Given the description of an element on the screen output the (x, y) to click on. 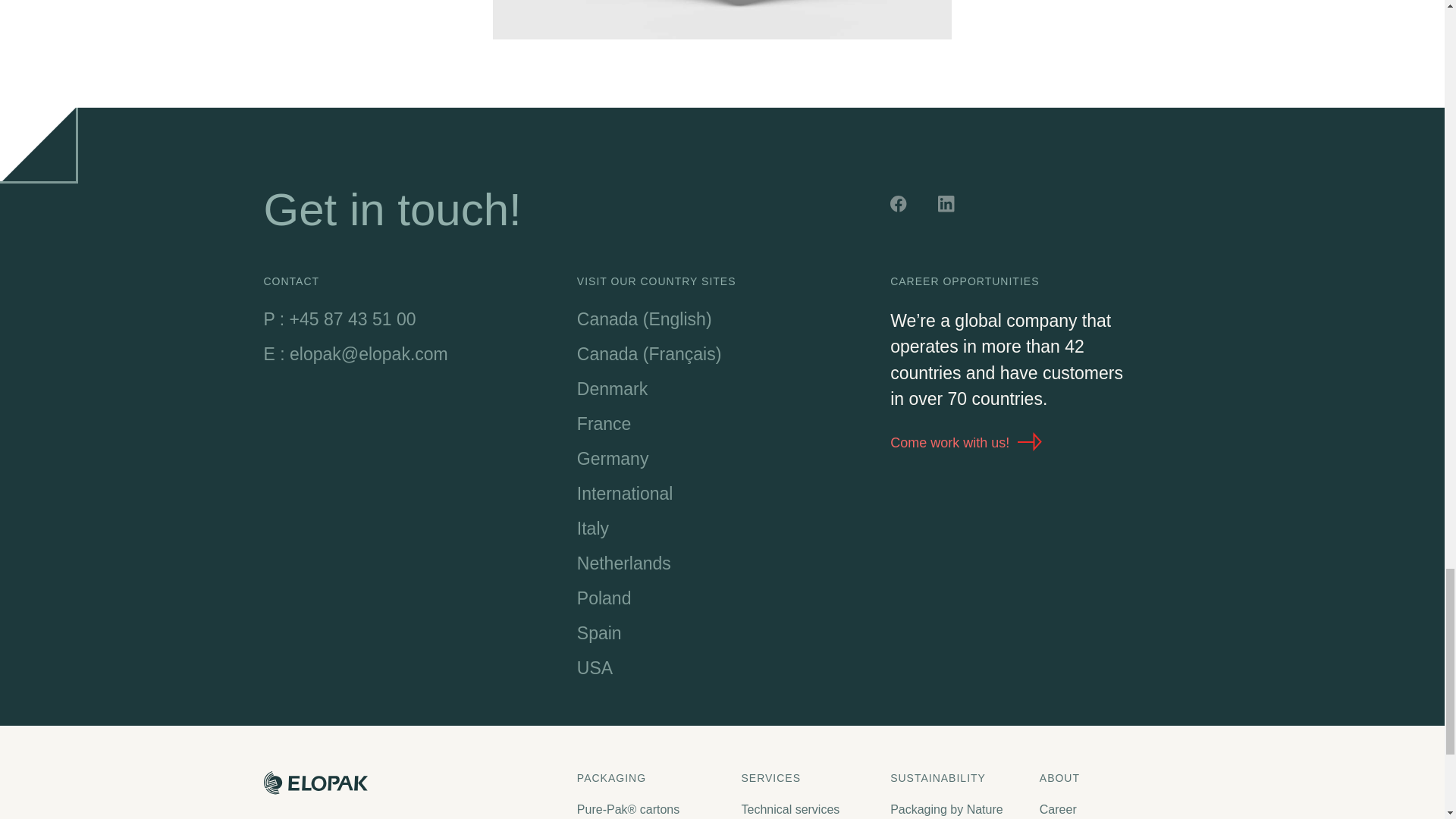
Facebook-icon (900, 206)
Services (808, 778)
LinkedIn (948, 206)
Packaging (651, 778)
